Given the description of an element on the screen output the (x, y) to click on. 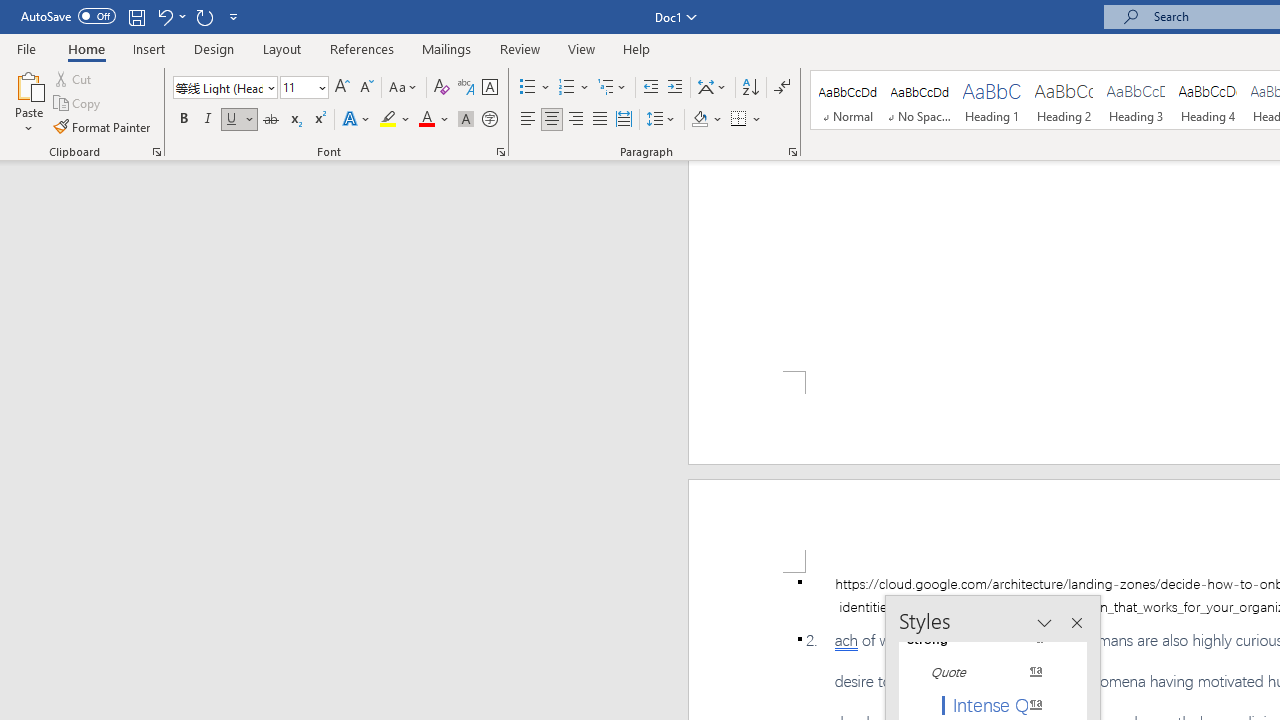
Show/Hide Editing Marks (781, 87)
Strong (984, 638)
References (362, 48)
Shading (706, 119)
Class: NetUIImage (971, 672)
Text Highlight Color Yellow (388, 119)
Italic (207, 119)
Bold (183, 119)
